Given the description of an element on the screen output the (x, y) to click on. 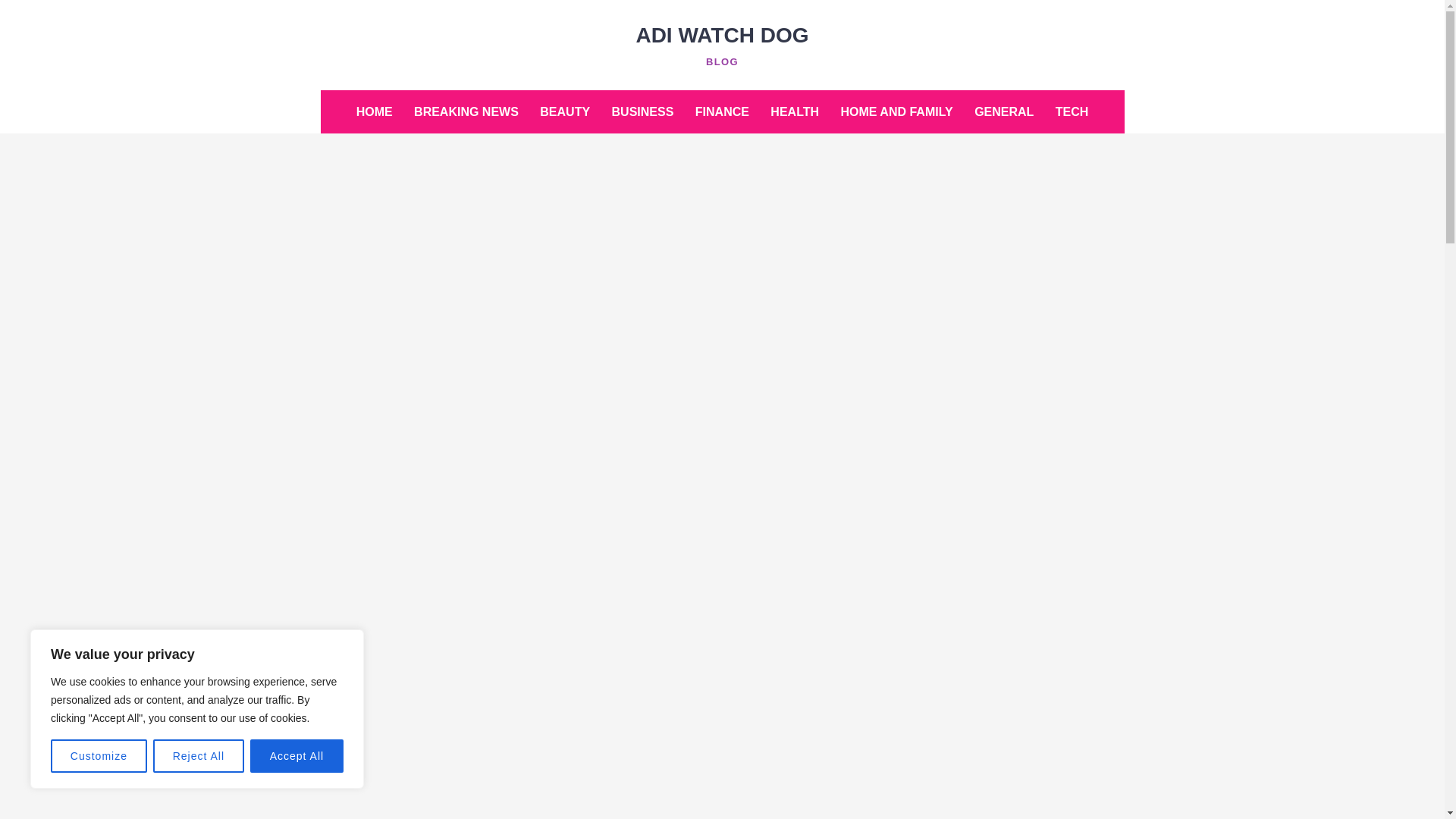
HEALTH (794, 111)
HOME (374, 111)
BREAKING NEWS (465, 111)
FINANCE (721, 111)
BEAUTY (564, 111)
Customize (98, 756)
ADI WATCH DOG (721, 34)
BUSINESS (642, 111)
Accept All (296, 756)
